Given the description of an element on the screen output the (x, y) to click on. 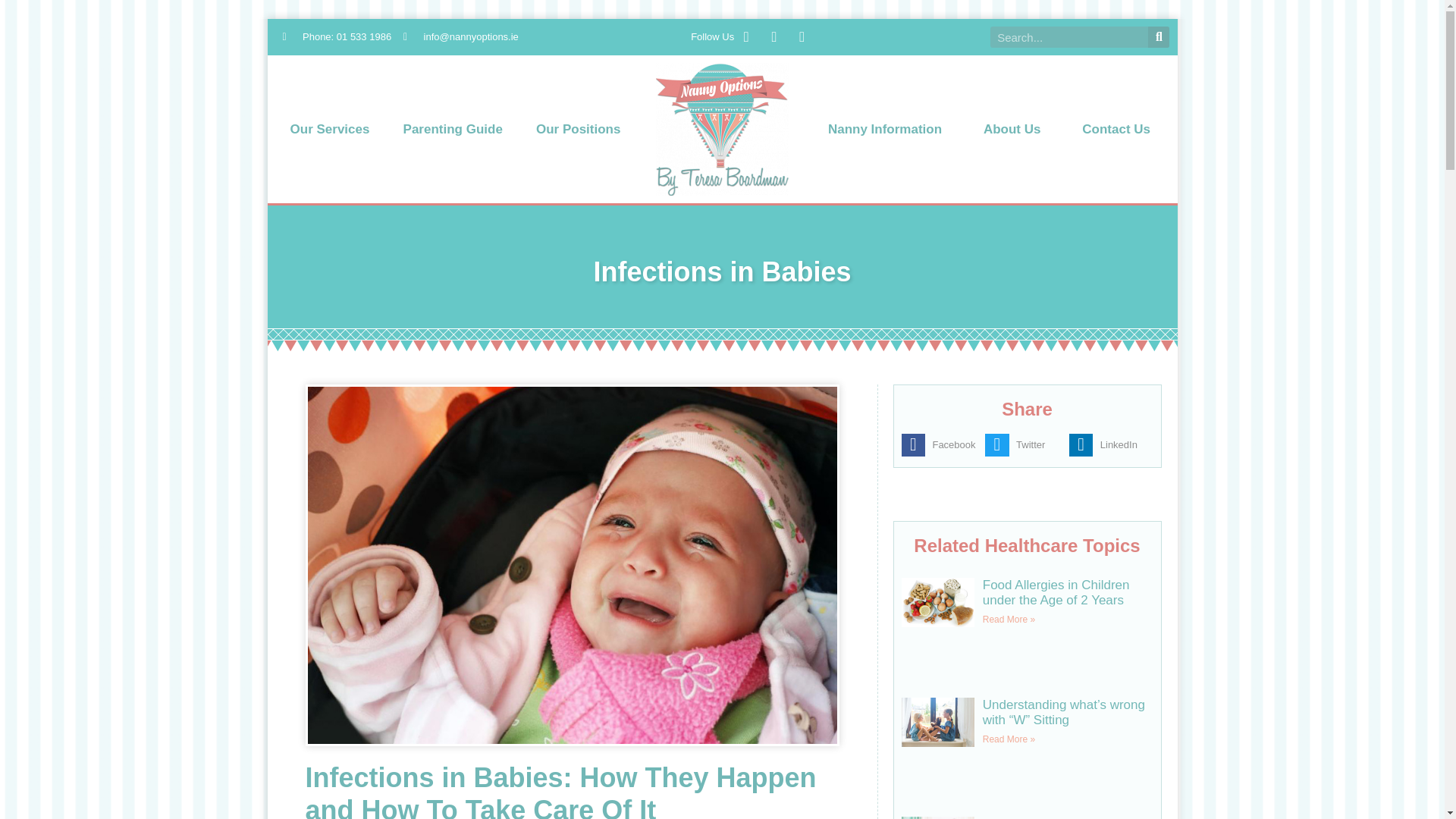
Parenting Guide (453, 129)
Phone: 01 533 1986 (336, 37)
Our Services (329, 129)
nanny-options-logo-2020-304-1 (722, 129)
